Given the description of an element on the screen output the (x, y) to click on. 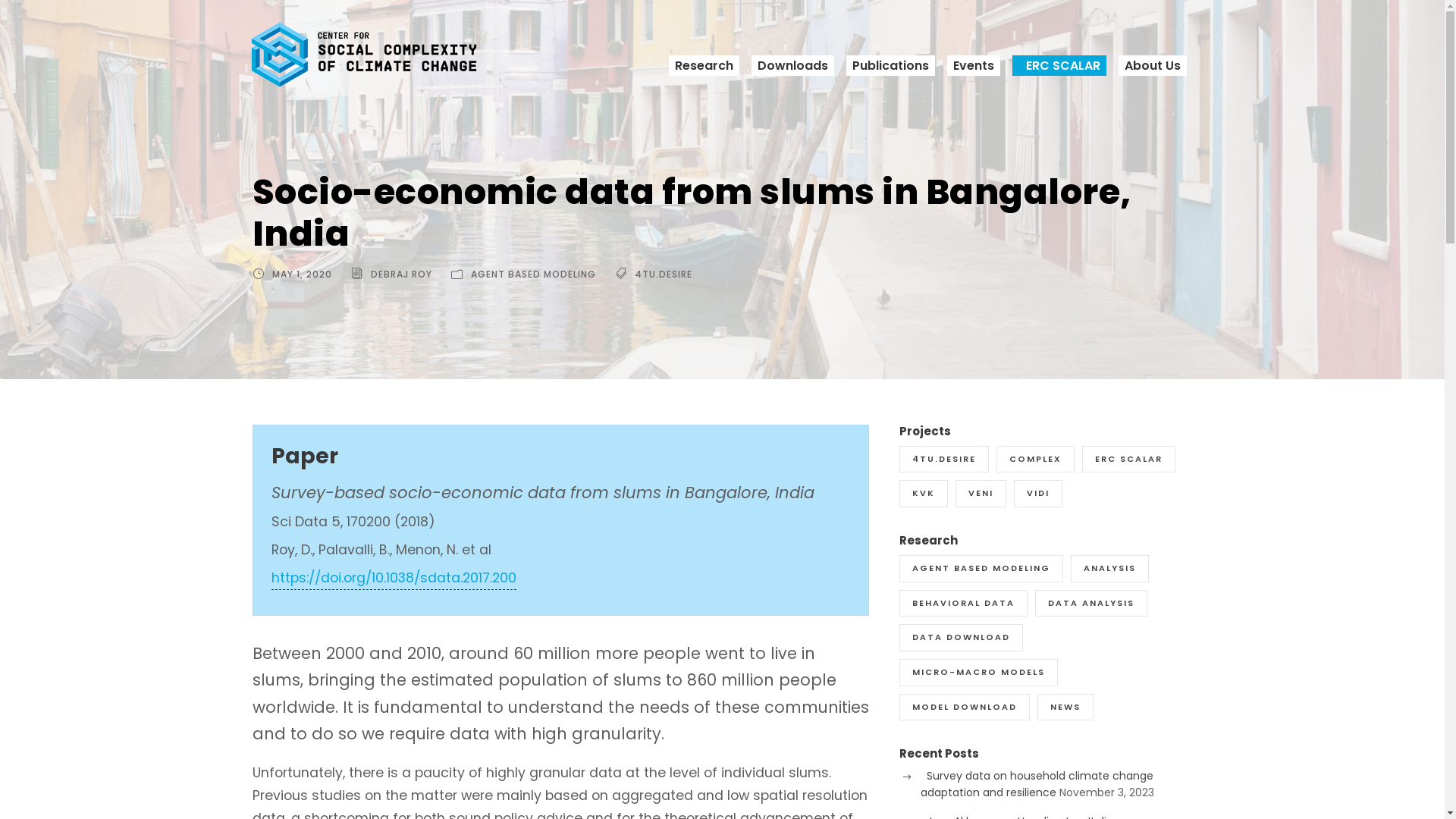
KVK Element type: text (923, 493)
4TU.DESIRE Element type: text (943, 459)
Publications Element type: text (890, 65)
DATA ANALYSIS Element type: text (1091, 603)
BEHAVIORAL DATA Element type: text (963, 603)
Downloads Element type: text (791, 65)
ERC SCALAR Element type: text (1128, 459)
https://doi.org/10.1038/sdata.2017.200 Element type: text (393, 579)
MAY 1, 2020 Element type: text (301, 273)
AGENT BASED MODELING Element type: text (981, 568)
ERC SCALAR Element type: text (1058, 65)
Research Element type: text (703, 65)
ANALYSIS Element type: text (1109, 568)
COMPLEX Element type: text (1035, 459)
4TU.DESIRE Element type: text (662, 273)
Events Element type: text (972, 65)
NEWS Element type: text (1065, 707)
sc3-logo Element type: hover (363, 54)
MICRO-MACRO MODELS Element type: text (978, 672)
About Us Element type: text (1151, 65)
VENI Element type: text (980, 493)
MODEL DOWNLOAD Element type: text (964, 707)
VIDI Element type: text (1037, 493)
DEBRAJ ROY Element type: text (400, 273)
AGENT BASED MODELING Element type: text (532, 273)
DATA DOWNLOAD Element type: text (960, 637)
